Given the description of an element on the screen output the (x, y) to click on. 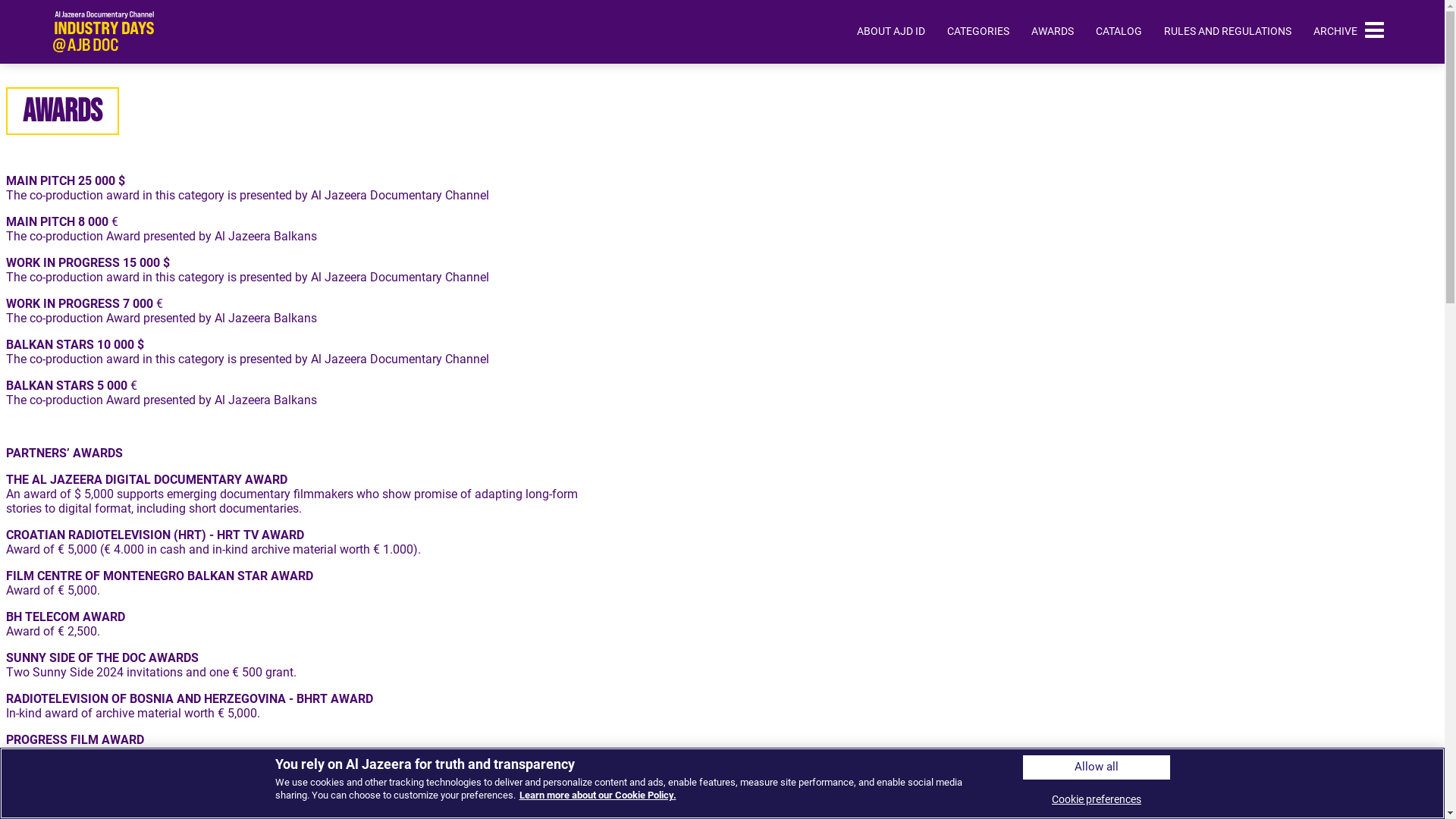
ARCHIVE Element type: text (1335, 30)
Cookie preferences Element type: text (1095, 799)
RULES AND REGULATIONS Element type: text (1227, 30)
CATALOG Element type: text (1118, 30)
Allow all Element type: text (1095, 767)
CATEGORIES Element type: text (977, 30)
AWARDS Element type: text (1052, 30)
Learn more about our Cookie Policy. Element type: text (596, 794)
ABOUT AJD ID Element type: text (890, 30)
